Given the description of an element on the screen output the (x, y) to click on. 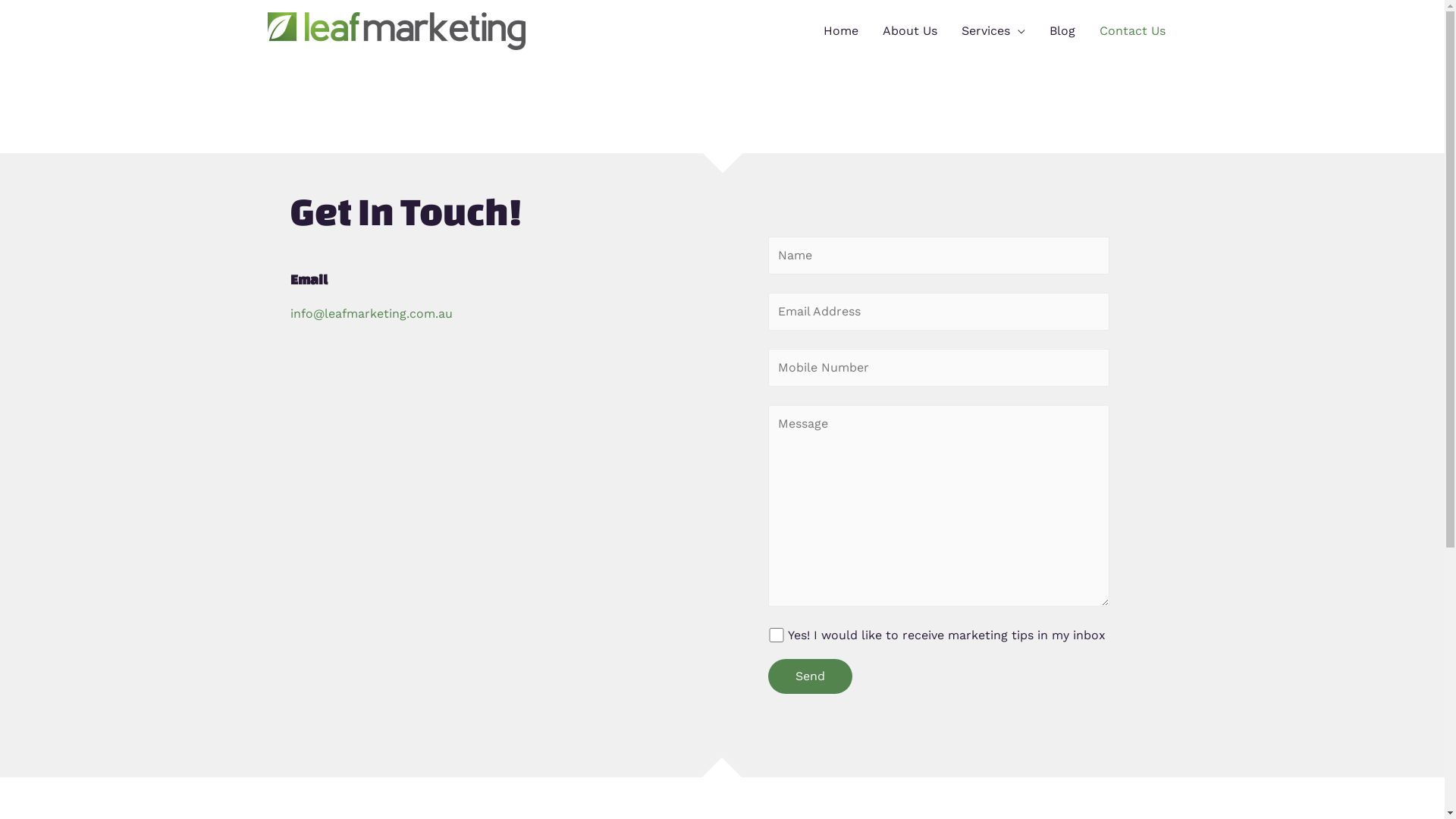
info@leafmarketing.com.au Element type: text (370, 313)
Services Element type: text (993, 30)
Home Element type: text (840, 30)
Blog Element type: text (1062, 30)
Send Element type: text (809, 675)
About Us Element type: text (909, 30)
Contact Us Element type: text (1132, 30)
